Given the description of an element on the screen output the (x, y) to click on. 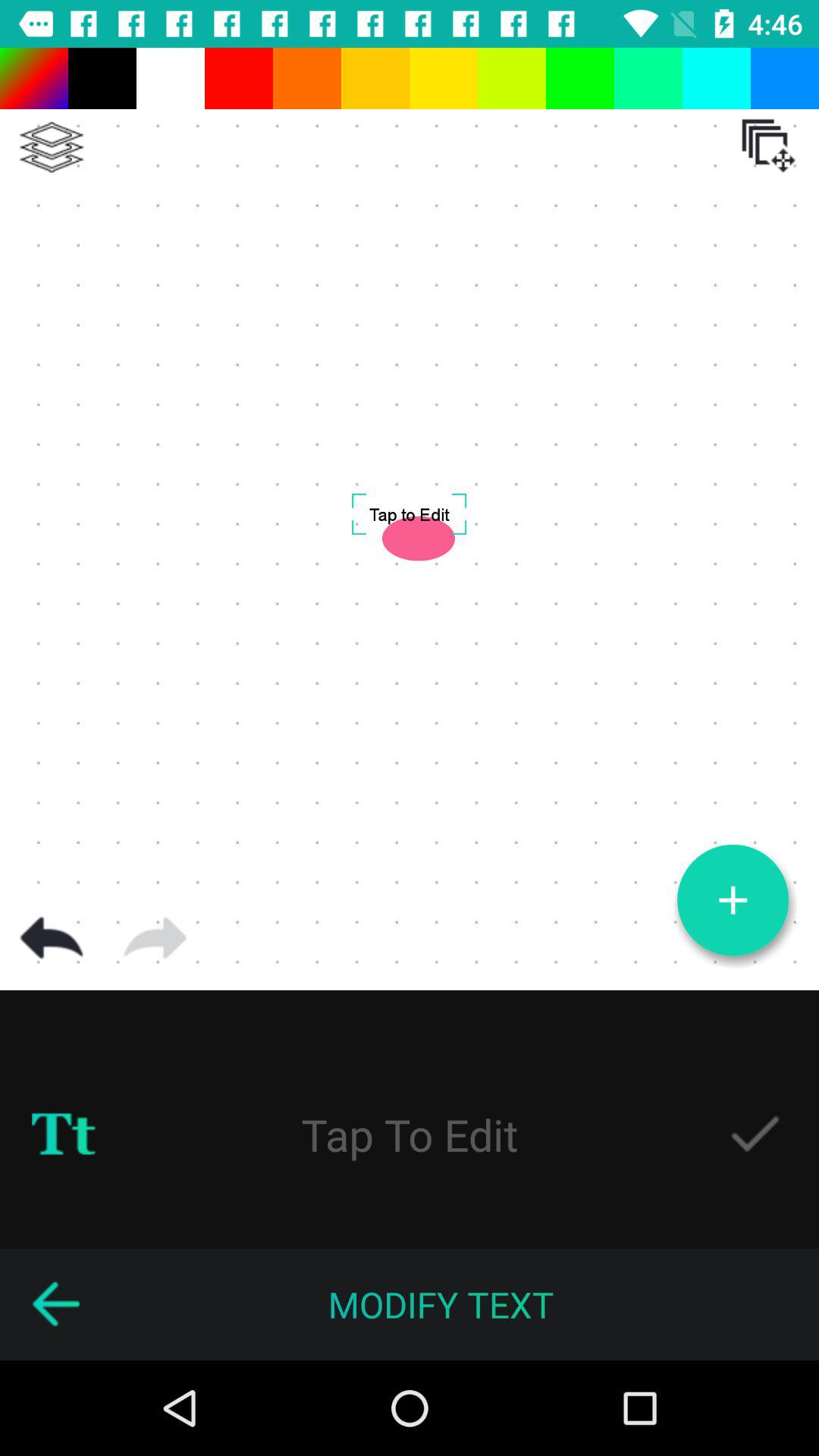
change text font (63, 1134)
